Given the description of an element on the screen output the (x, y) to click on. 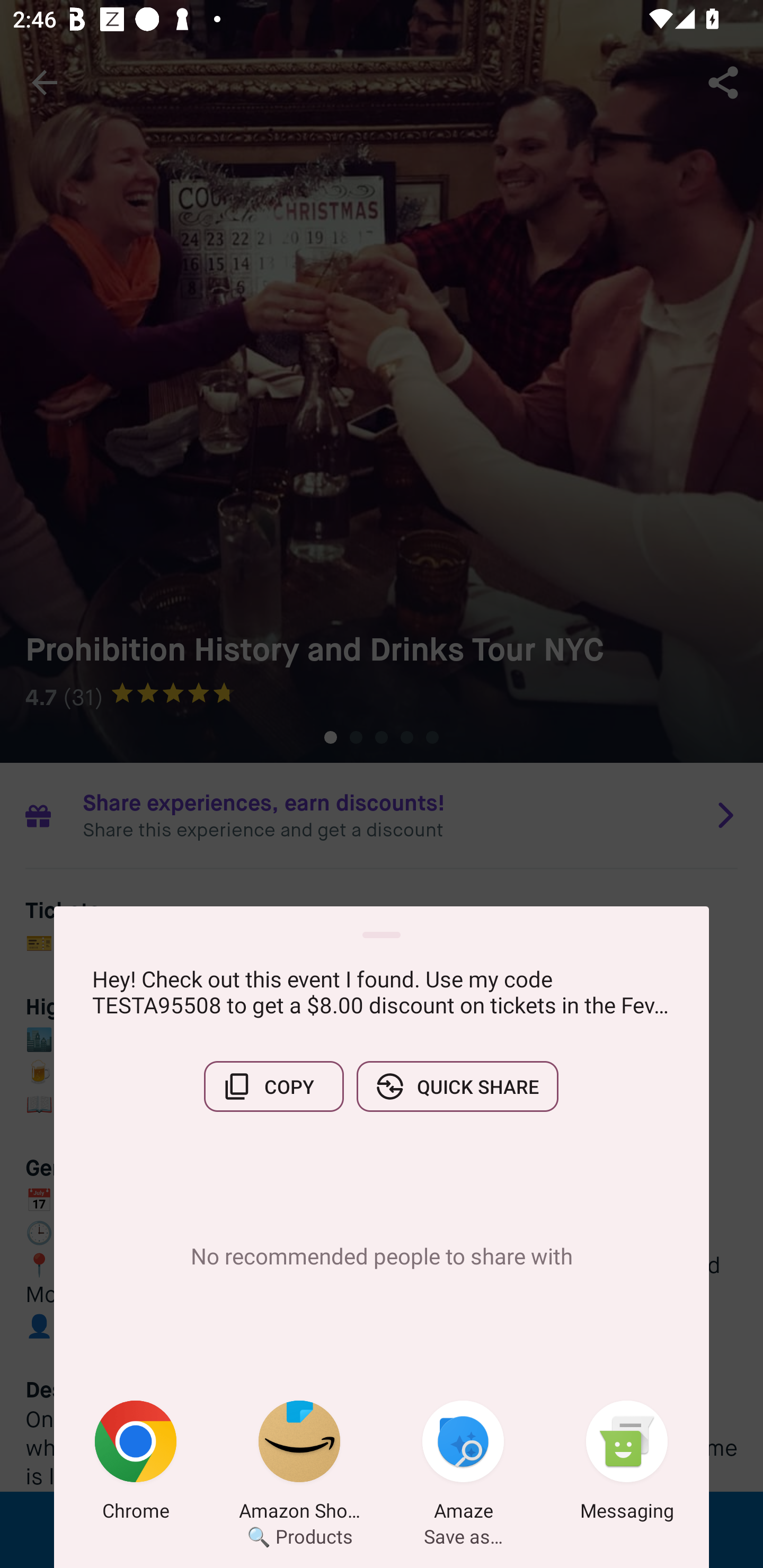
COPY (273, 1086)
QUICK SHARE (457, 1086)
Chrome (135, 1463)
Amazon Shopping 🔍 Products (299, 1463)
Amaze Save as… (463, 1463)
Messaging (626, 1463)
